Given the description of an element on the screen output the (x, y) to click on. 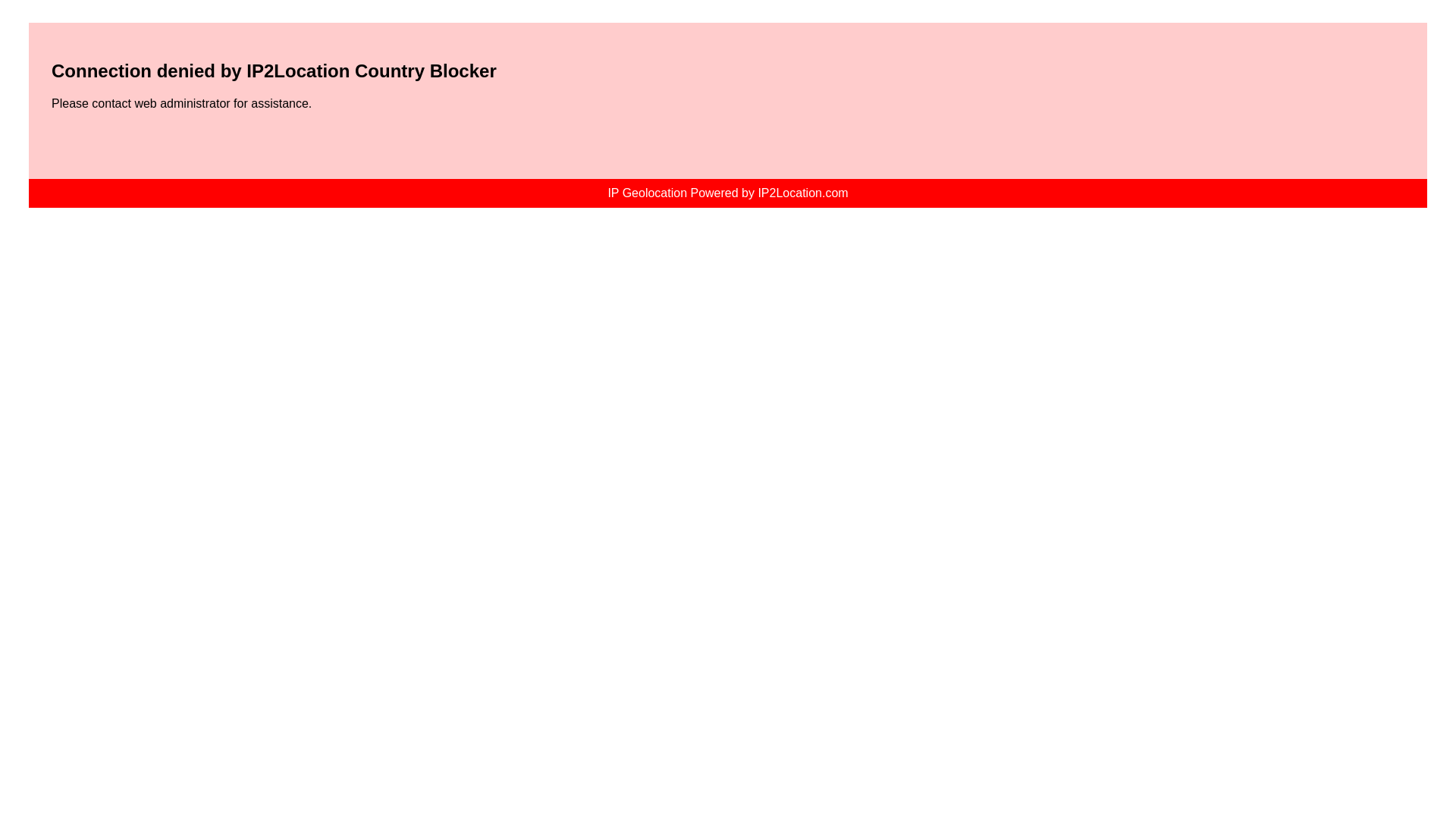
IP Geolocation Powered by IP2Location.com (727, 192)
